Given the description of an element on the screen output the (x, y) to click on. 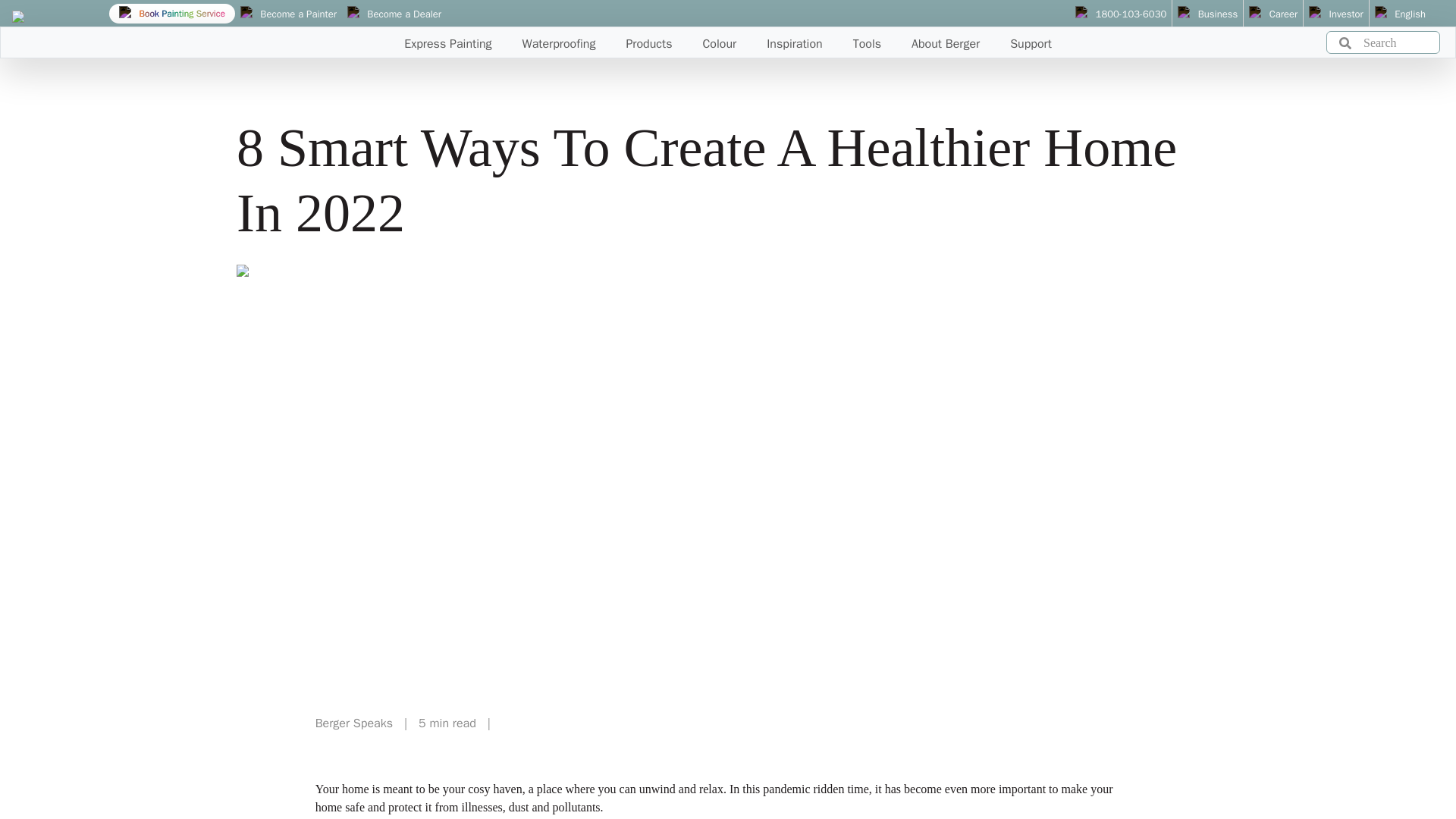
1800-103-6030 (1120, 14)
Career (1273, 14)
Become a Painter (288, 14)
Investor (1335, 14)
Express Painting (447, 38)
Become a Dealer (394, 14)
Business (1207, 14)
English (1399, 14)
